Given the description of an element on the screen output the (x, y) to click on. 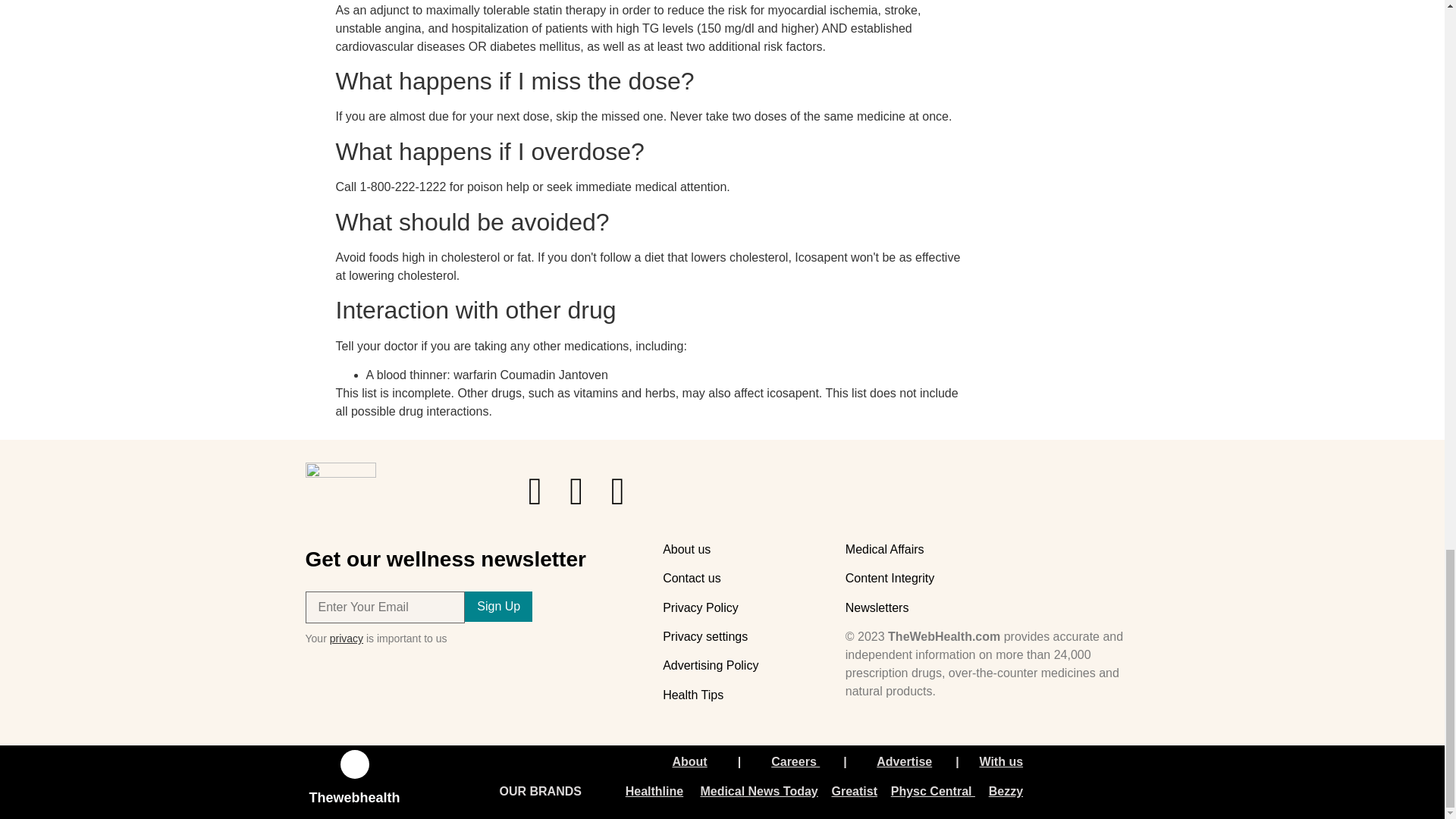
Sign Up (498, 606)
Sign Up (498, 606)
privacy (346, 638)
